Given the description of an element on the screen output the (x, y) to click on. 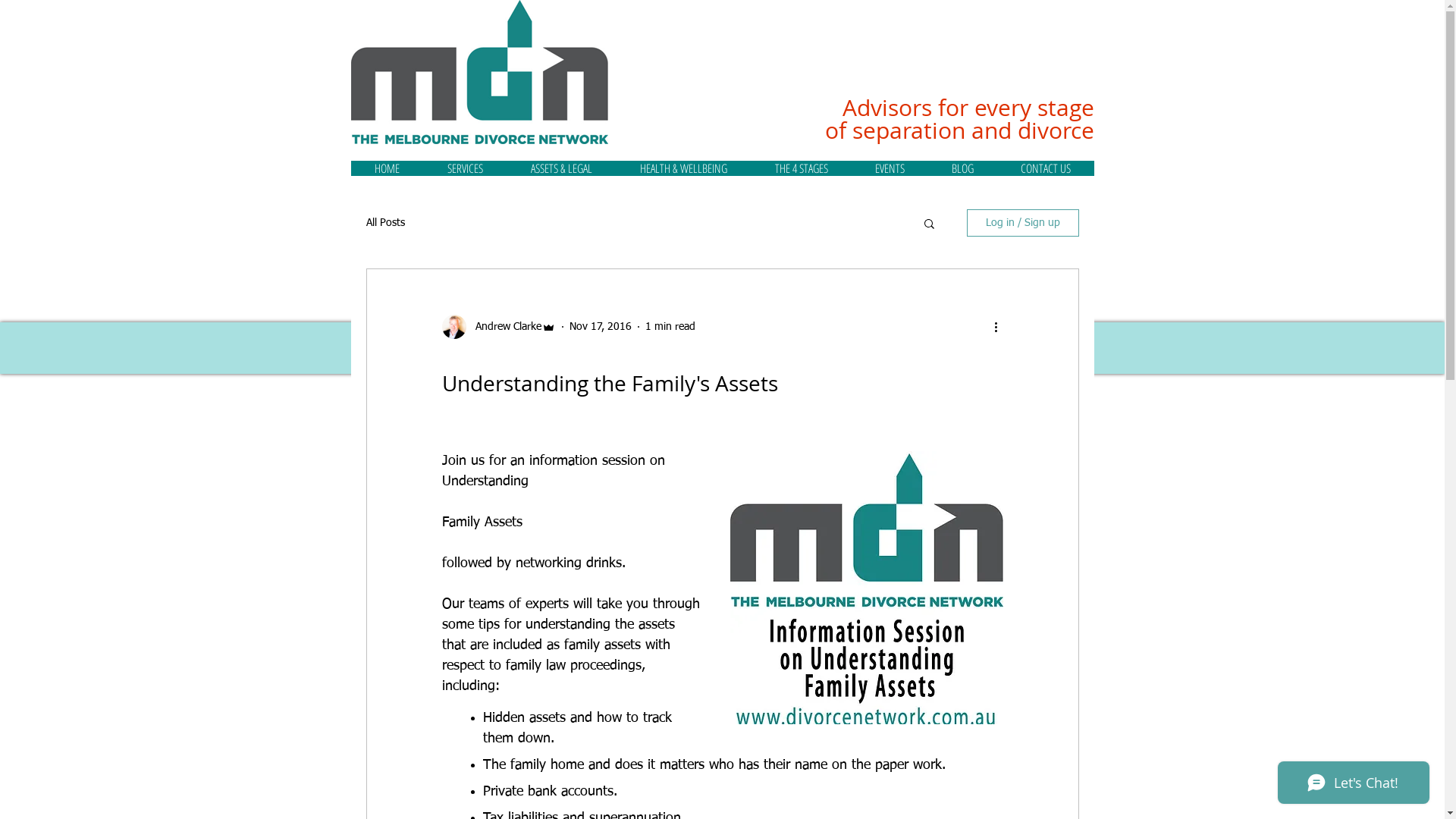
ASSETS & LEGAL Element type: text (560, 167)
THE 4 STAGES Element type: text (800, 167)
BLOG Element type: text (962, 167)
CONTACT US Element type: text (1044, 167)
SERVICES Element type: text (464, 167)
HOME Element type: text (386, 167)
All Posts Element type: text (384, 222)
EVENTS Element type: text (888, 167)
Log in / Sign up Element type: text (1022, 222)
HEALTH & WELLBEING Element type: text (682, 167)
mdn-logo-web-header.gif Element type: hover (478, 72)
